Given the description of an element on the screen output the (x, y) to click on. 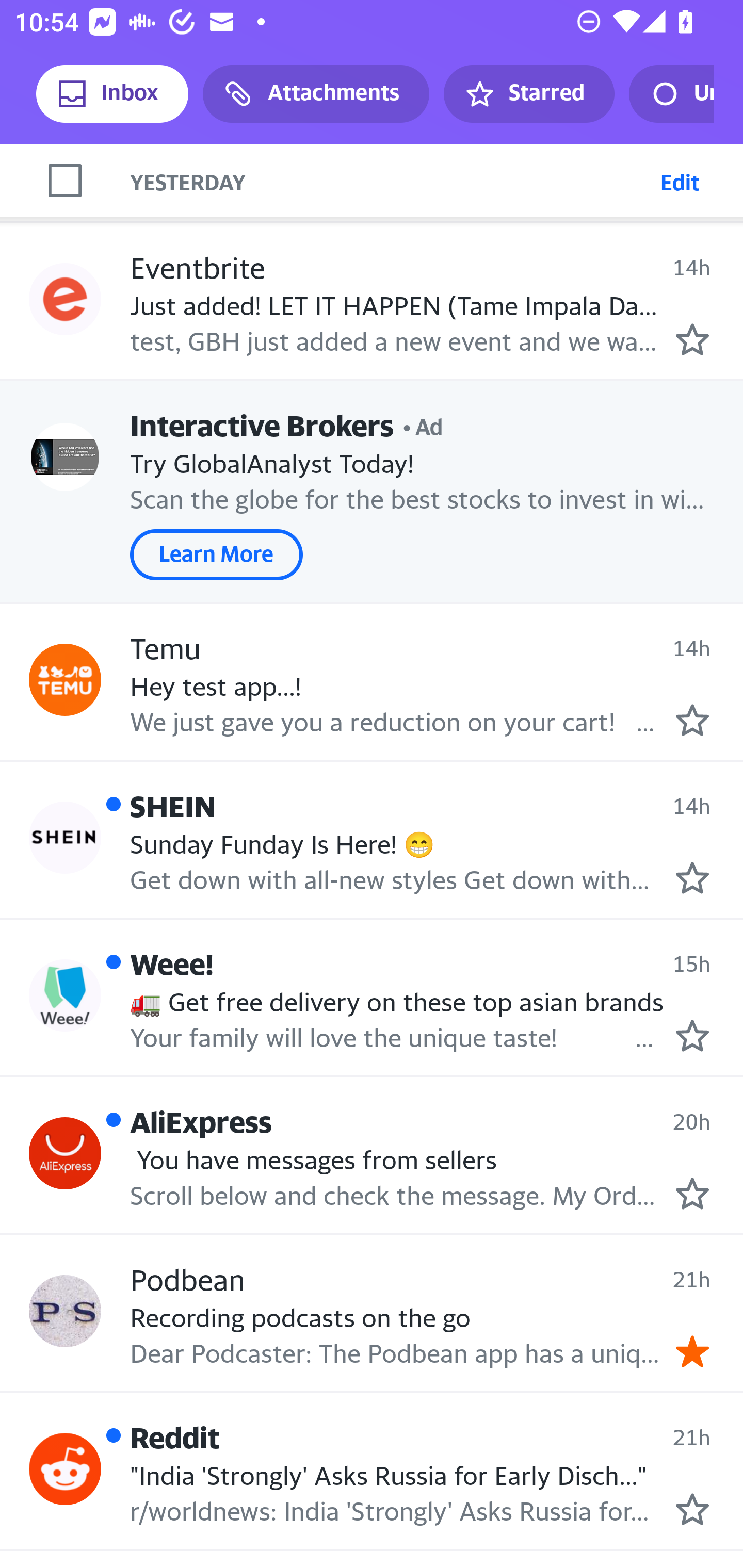
Attachments (315, 93)
Starred (528, 93)
Profile
Eventbrite (64, 299)
Mark as starred. (692, 339)
Profile
Temu (64, 680)
Mark as starred. (692, 720)
Profile
SHEIN (64, 837)
Mark as starred. (692, 877)
Profile
Weee! (64, 995)
Mark as starred. (692, 1035)
Profile
AliExpress (64, 1153)
Mark as starred. (692, 1194)
Profile
Podbean (64, 1310)
Remove star. (692, 1350)
Profile
Reddit (64, 1469)
Mark as starred. (692, 1509)
